Given the description of an element on the screen output the (x, y) to click on. 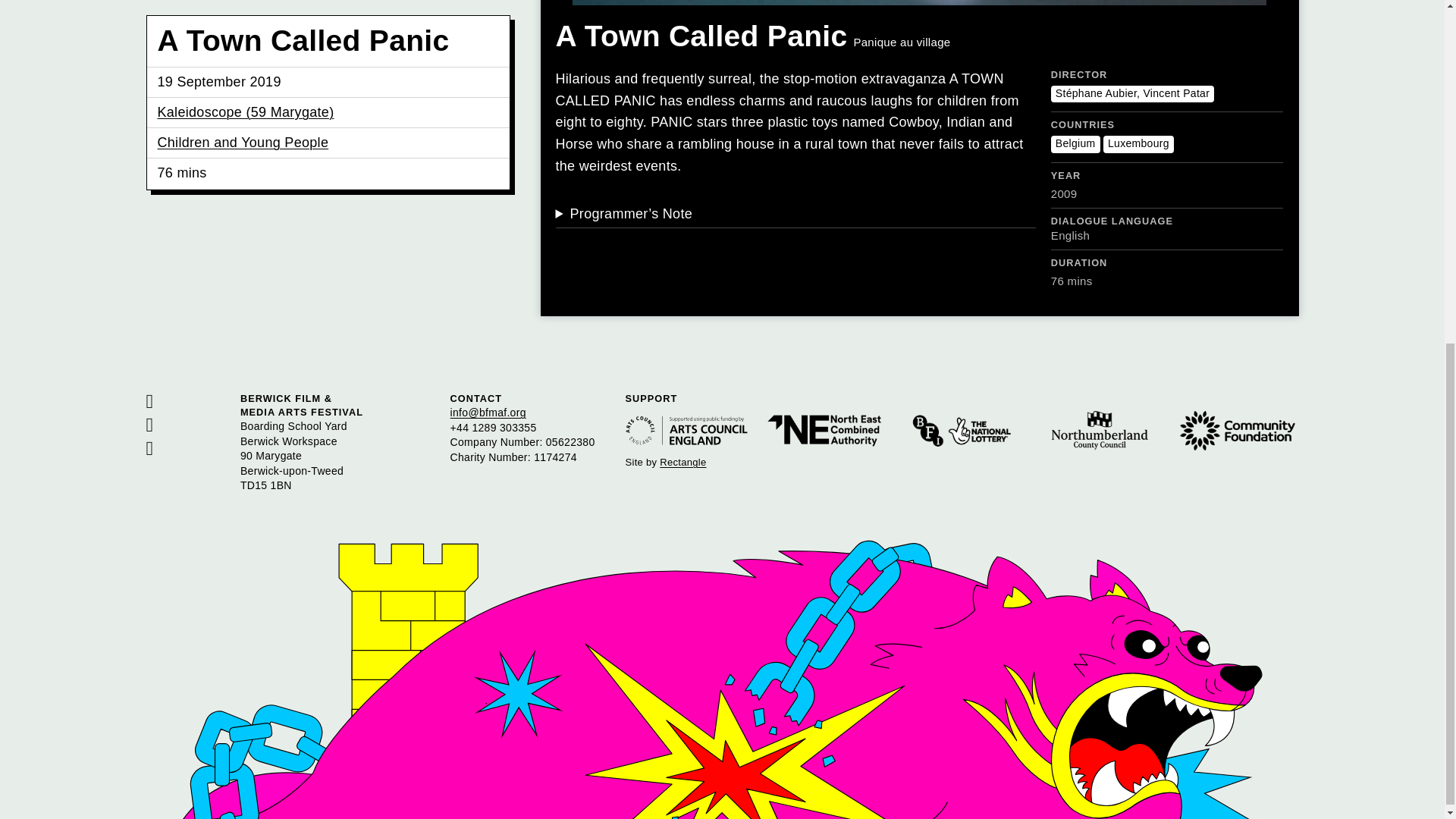
Belgium (1075, 144)
Luxembourg (1138, 144)
Rectangle (682, 461)
